Given the description of an element on the screen output the (x, y) to click on. 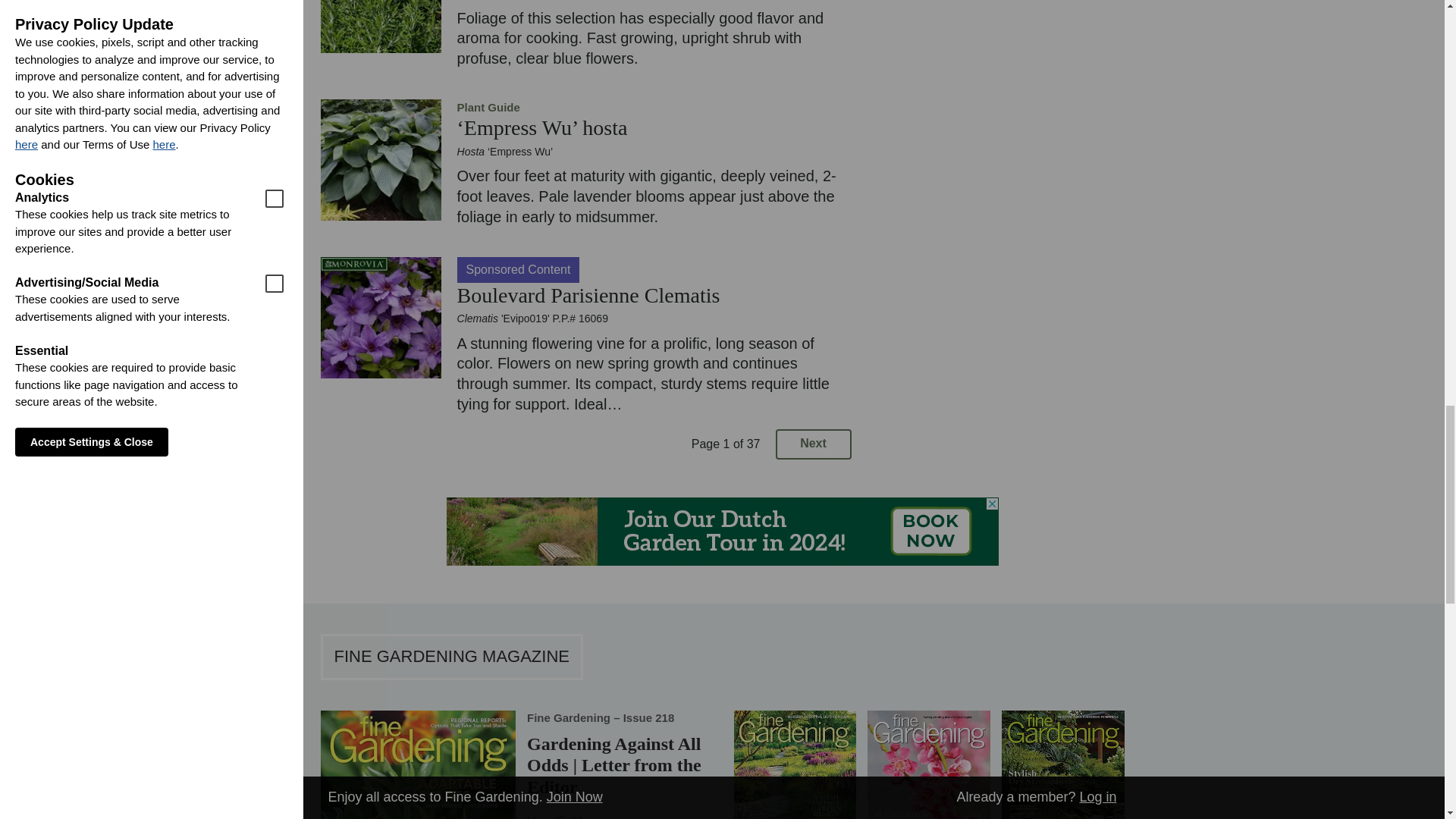
3rd party ad content (721, 531)
